Given the description of an element on the screen output the (x, y) to click on. 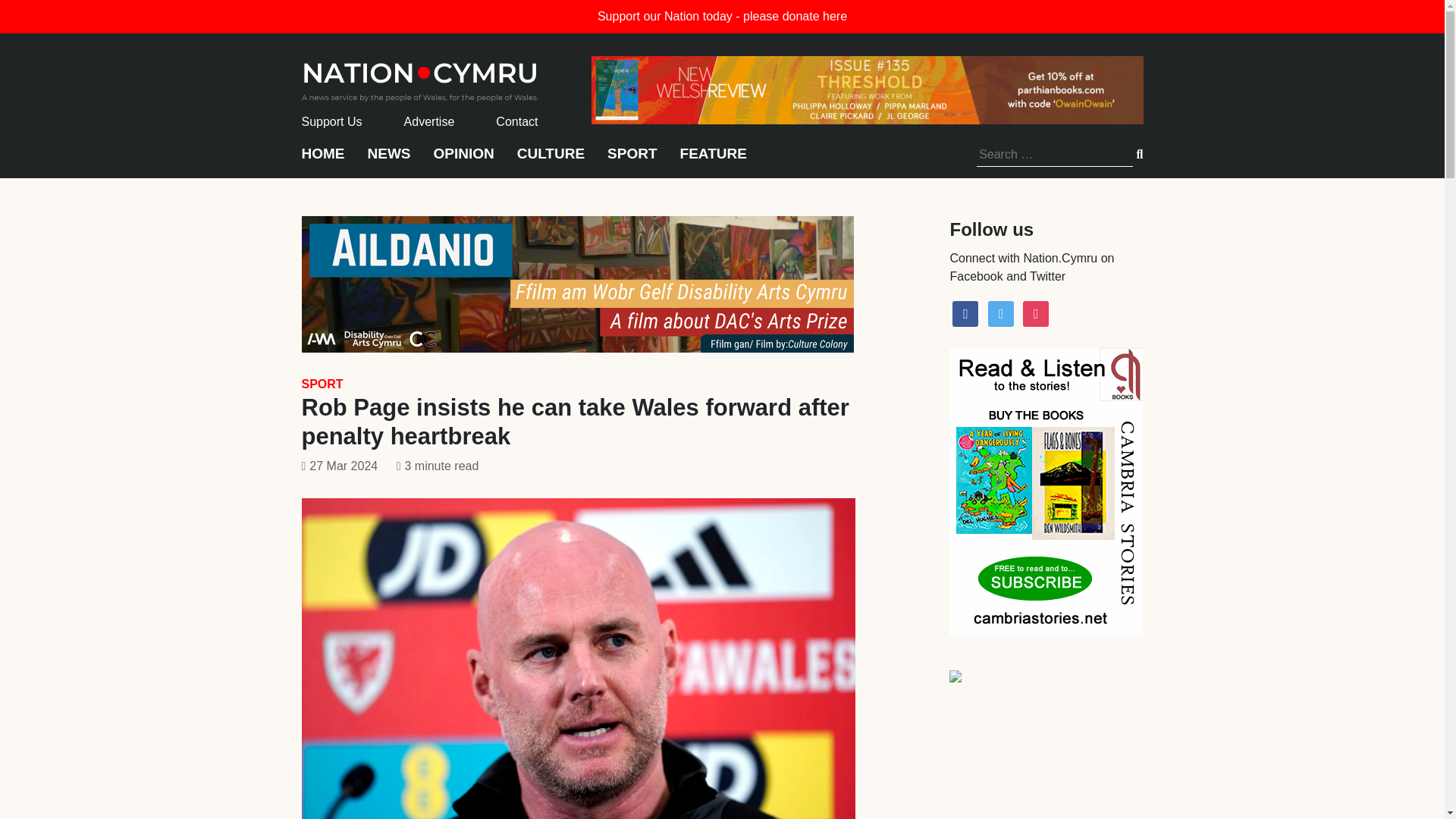
home (419, 77)
Support Us (331, 121)
SPORT (631, 160)
FEATURE (712, 160)
HOME (323, 160)
CULTURE (550, 160)
Contact (516, 121)
NEWS (388, 160)
Advertise (429, 121)
SPORT (322, 383)
OPINION (464, 160)
